Given the description of an element on the screen output the (x, y) to click on. 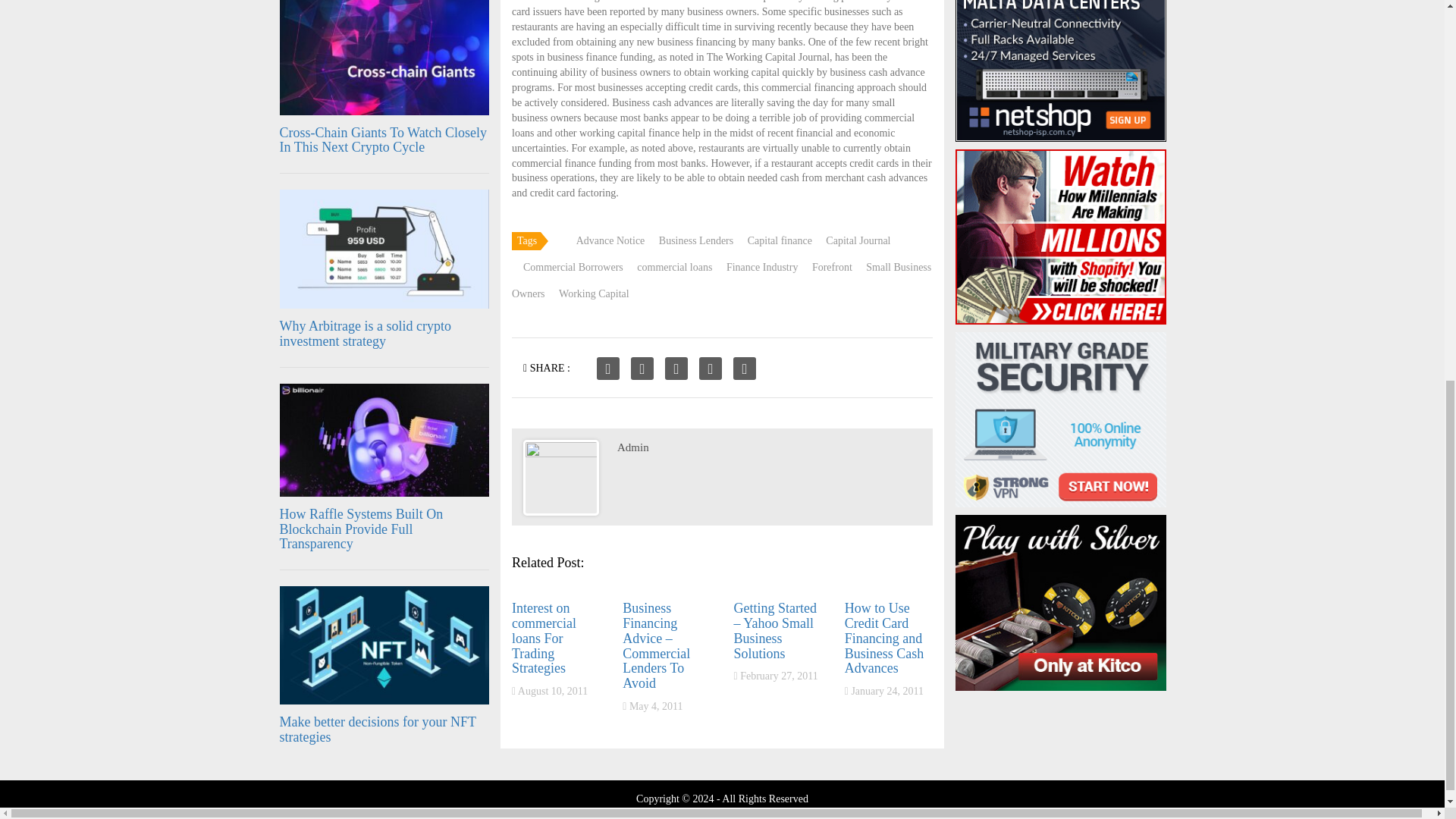
Posts by Admin (633, 447)
Share on Facebook (608, 368)
Make better decisions for your NFT strategies (377, 729)
Why Arbitrage is a solid crypto investment strategy (364, 333)
